Given the description of an element on the screen output the (x, y) to click on. 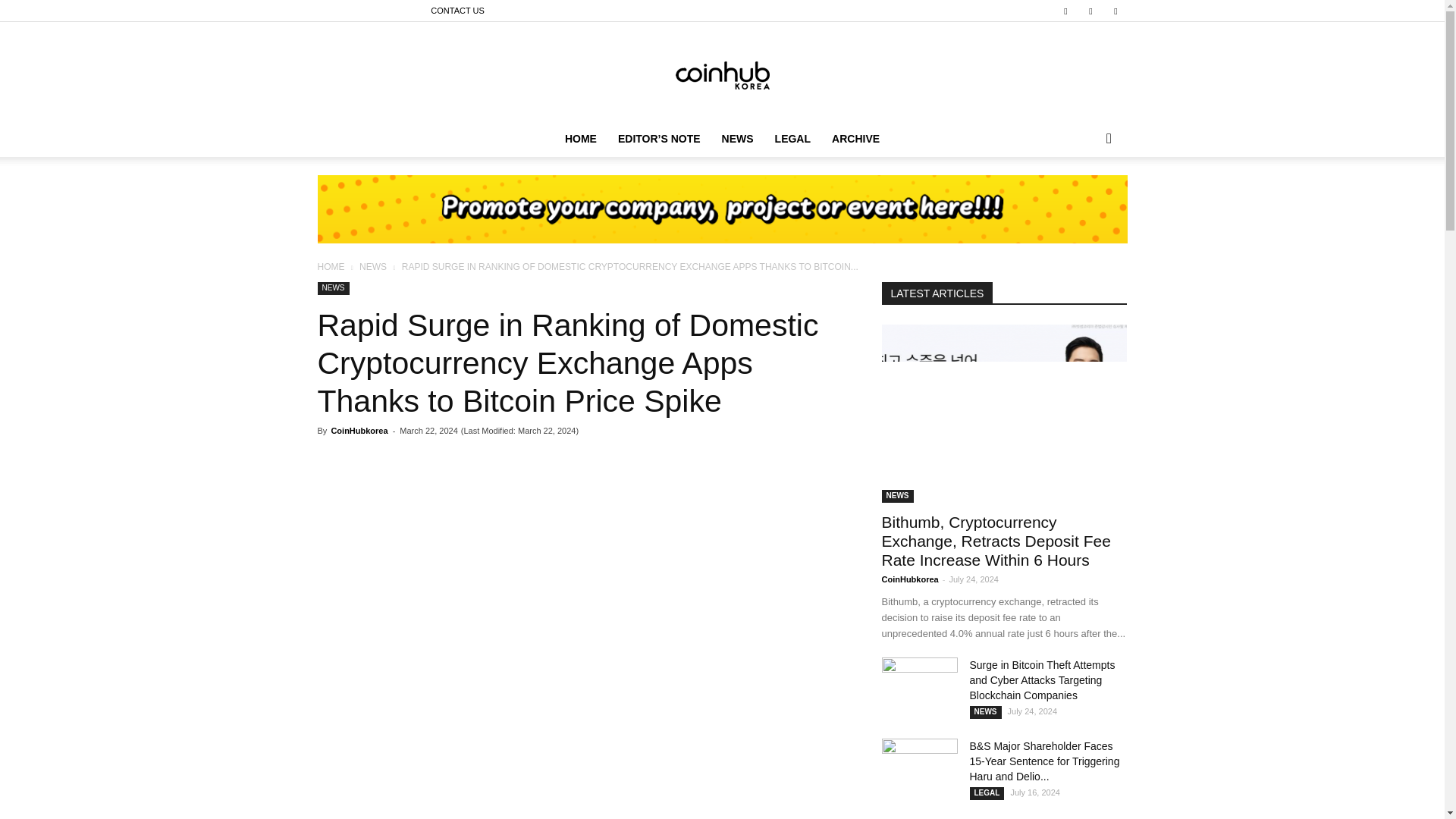
HOME (580, 138)
NEWS (333, 287)
CONTACT US (457, 10)
LEGAL (792, 138)
NEWS (373, 266)
NEWS (737, 138)
HOME (330, 266)
CoinHubKorea (722, 71)
ARCHIVE (855, 138)
Search (1085, 199)
CoinHubkorea (358, 429)
Mail (1065, 10)
RSS (1090, 10)
Twitter (1114, 10)
